Given the description of an element on the screen output the (x, y) to click on. 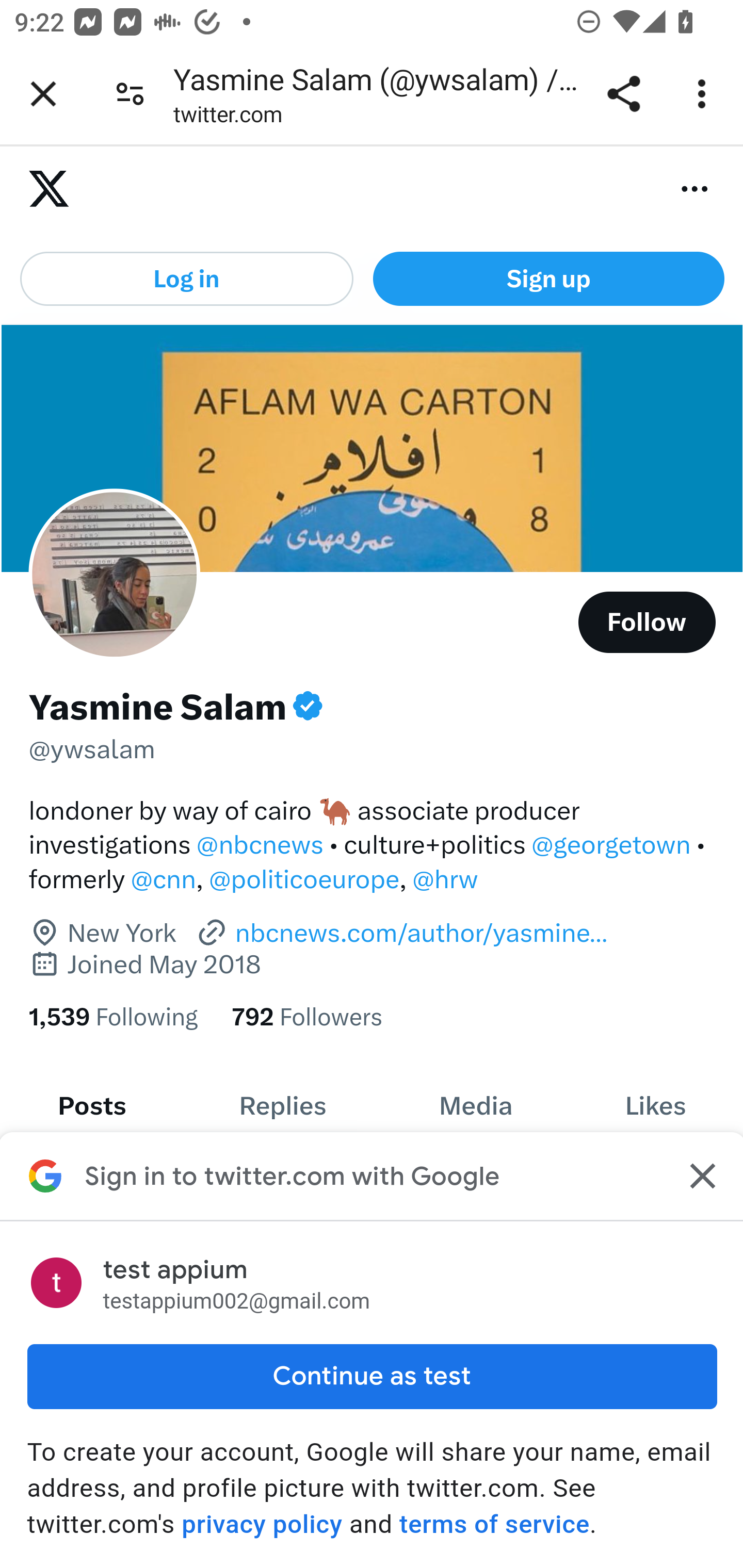
Close tab (43, 93)
Share (623, 93)
Customize and control Google Chrome (705, 93)
Connection is secure (129, 93)
twitter.com (228, 117)
Follow @ywsalam (647, 621)
Provides details about verified accounts. (307, 705)
@nbcnews (259, 843)
@georgetown (611, 843)
@cnn (163, 878)
@politicoeurope (304, 878)
@hrw (444, 878)
nbcnews.com/author/yasmine… (401, 932)
1,539 Following 1,539   Following (112, 1016)
792 Followers 792   Followers (307, 1016)
Posts (92, 1105)
Replies (283, 1105)
Media (475, 1105)
Likes (654, 1105)
Close (700, 1175)
Continue as test (371, 1376)
privacy policy (261, 1523)
terms of service (493, 1523)
